Given the description of an element on the screen output the (x, y) to click on. 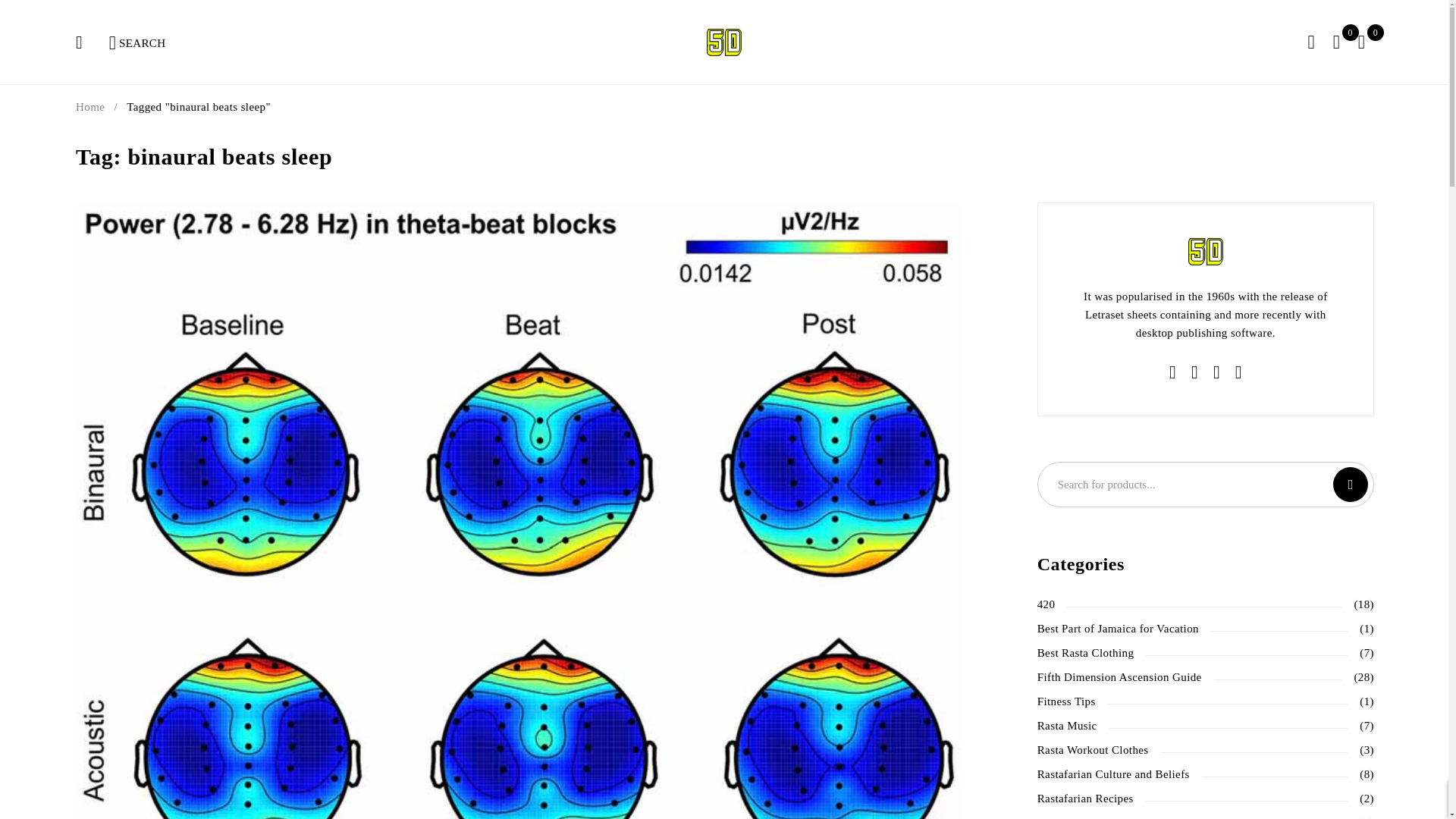
Home (89, 106)
Fifth Degree (723, 41)
420 (1045, 604)
Rastafarian Culture and Beliefs (1112, 774)
Rasta Music (1066, 725)
Rastafarian Recipes (1085, 798)
Fifth Degree (1205, 251)
Search (90, 42)
Fitness Tips (1066, 701)
Uncategorized (1072, 816)
Search (1350, 484)
Best Rasta Clothing (1085, 652)
Search (1350, 484)
Best Part of Jamaica for Vacation (1117, 628)
Rasta Workout Clothes (1092, 749)
